Given the description of an element on the screen output the (x, y) to click on. 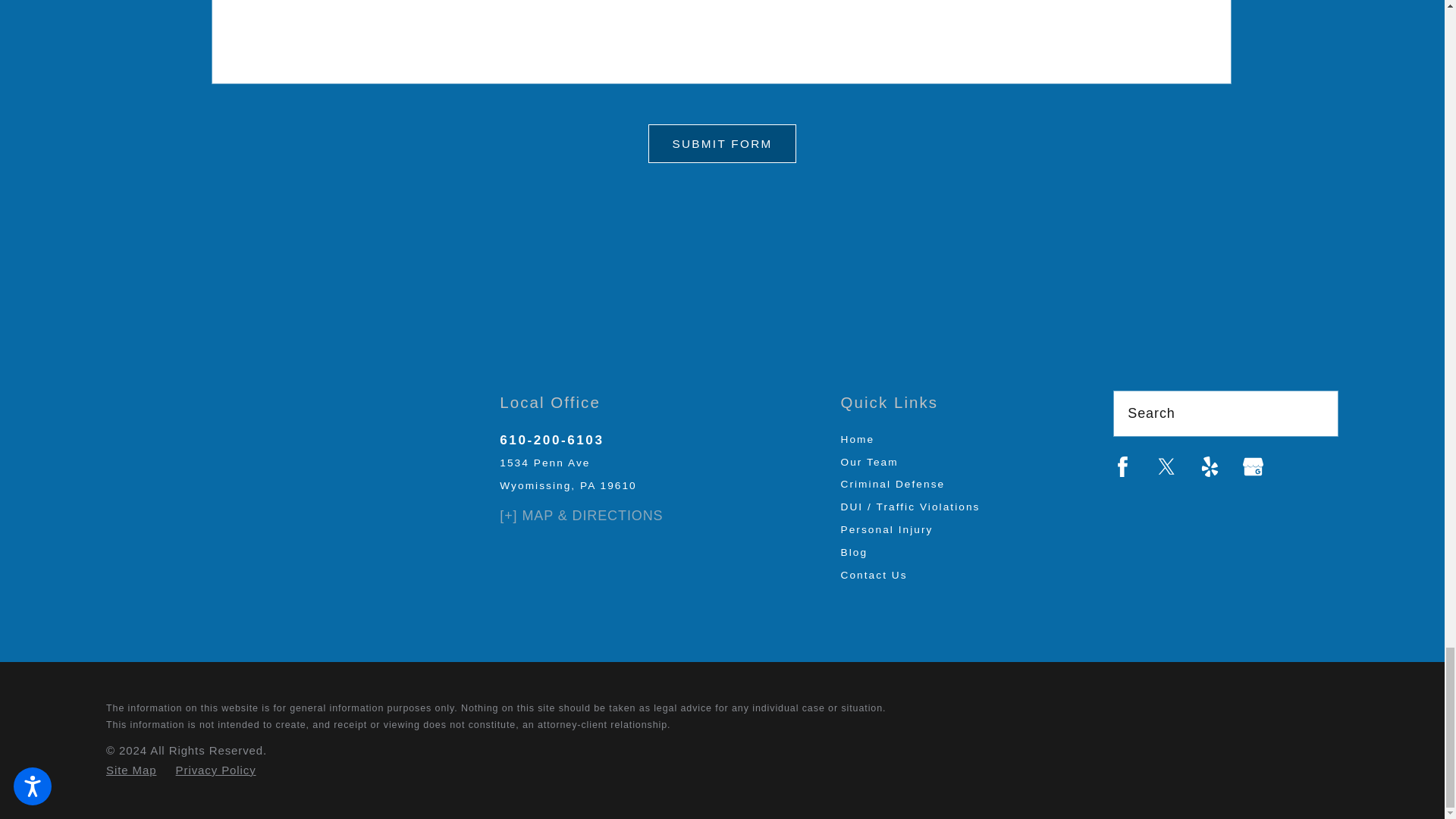
Twitter (1166, 466)
Search Our Site (1316, 413)
Yelp (1209, 466)
Facebook (1122, 466)
